Given the description of an element on the screen output the (x, y) to click on. 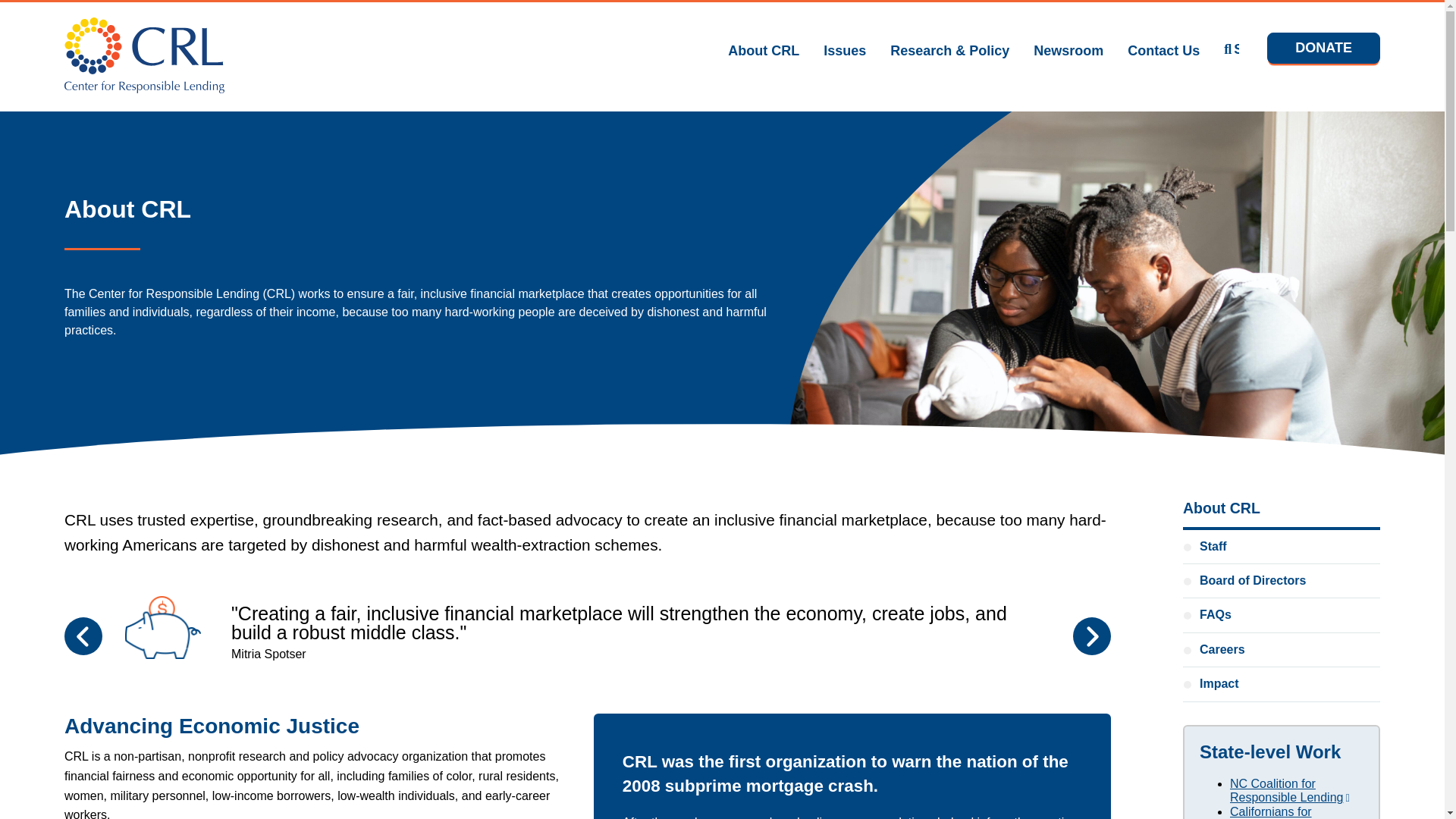
DONATE (1323, 47)
Newsroom (1068, 50)
About CRL (763, 50)
Issues (845, 50)
Contact Us (1162, 50)
